Given the description of an element on the screen output the (x, y) to click on. 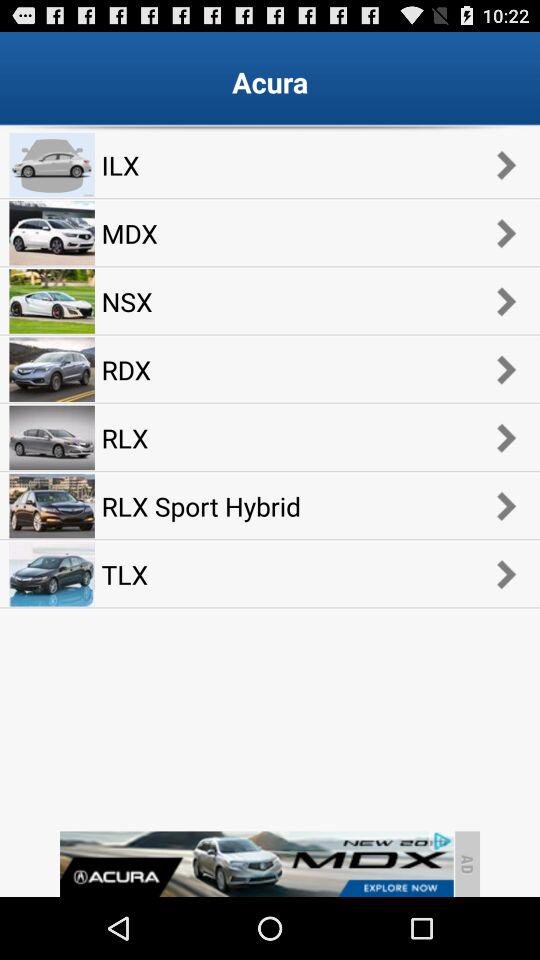
clickable advertisement (256, 864)
